Given the description of an element on the screen output the (x, y) to click on. 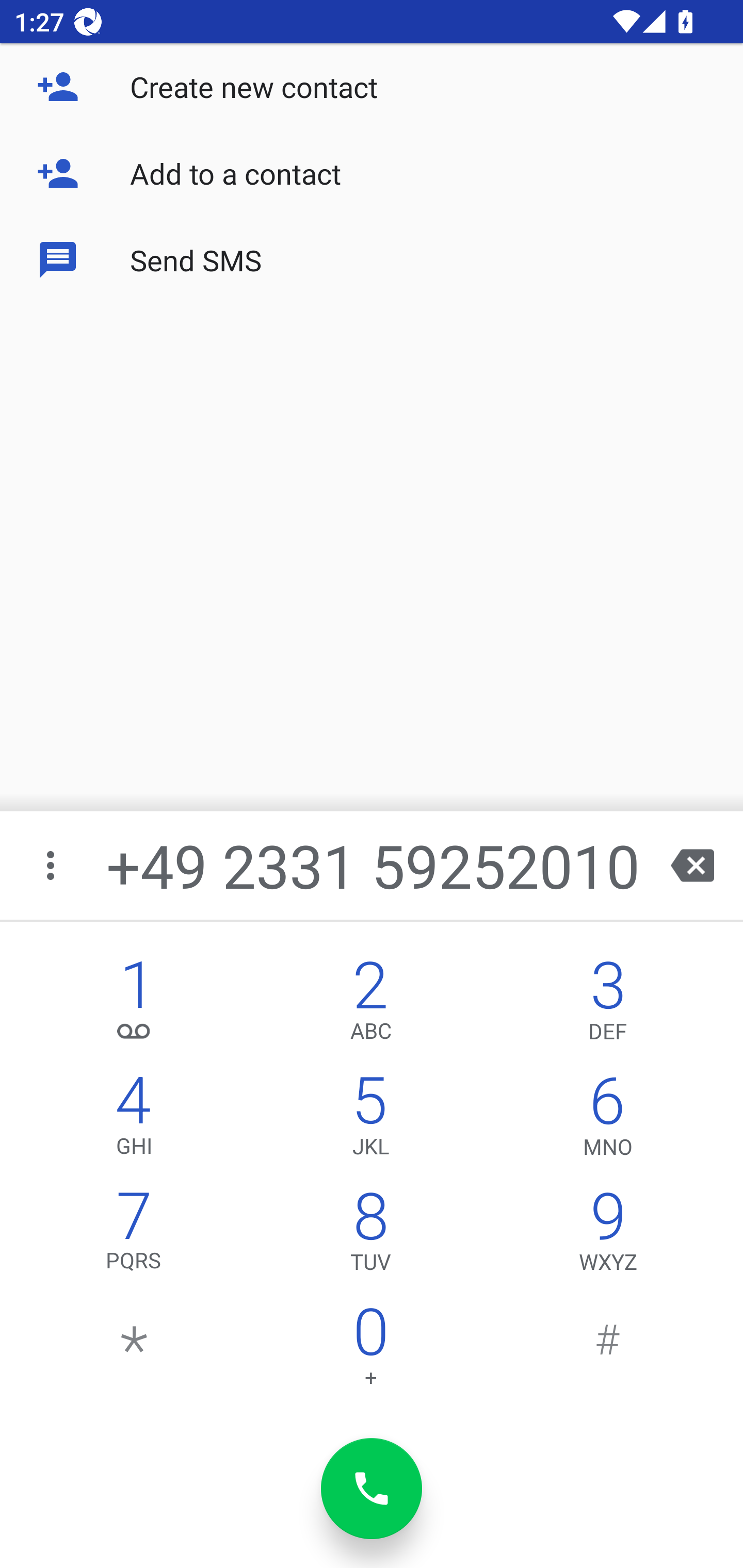
Create new contact (371, 86)
Add to a contact (371, 173)
Send SMS (371, 259)
+49 2331 59252010 (372, 865)
backspace (692, 865)
More options (52, 865)
1, 1 (133, 1005)
2,ABC 2 ABC (370, 1005)
3,DEF 3 DEF (607, 1005)
4,GHI 4 GHI (133, 1120)
5,JKL 5 JKL (370, 1120)
6,MNO 6 MNO (607, 1120)
7,PQRS 7 PQRS (133, 1235)
8,TUV 8 TUV (370, 1235)
9,WXYZ 9 WXYZ (607, 1235)
* (133, 1351)
0 0 + (370, 1351)
# (607, 1351)
dial (371, 1488)
